Given the description of an element on the screen output the (x, y) to click on. 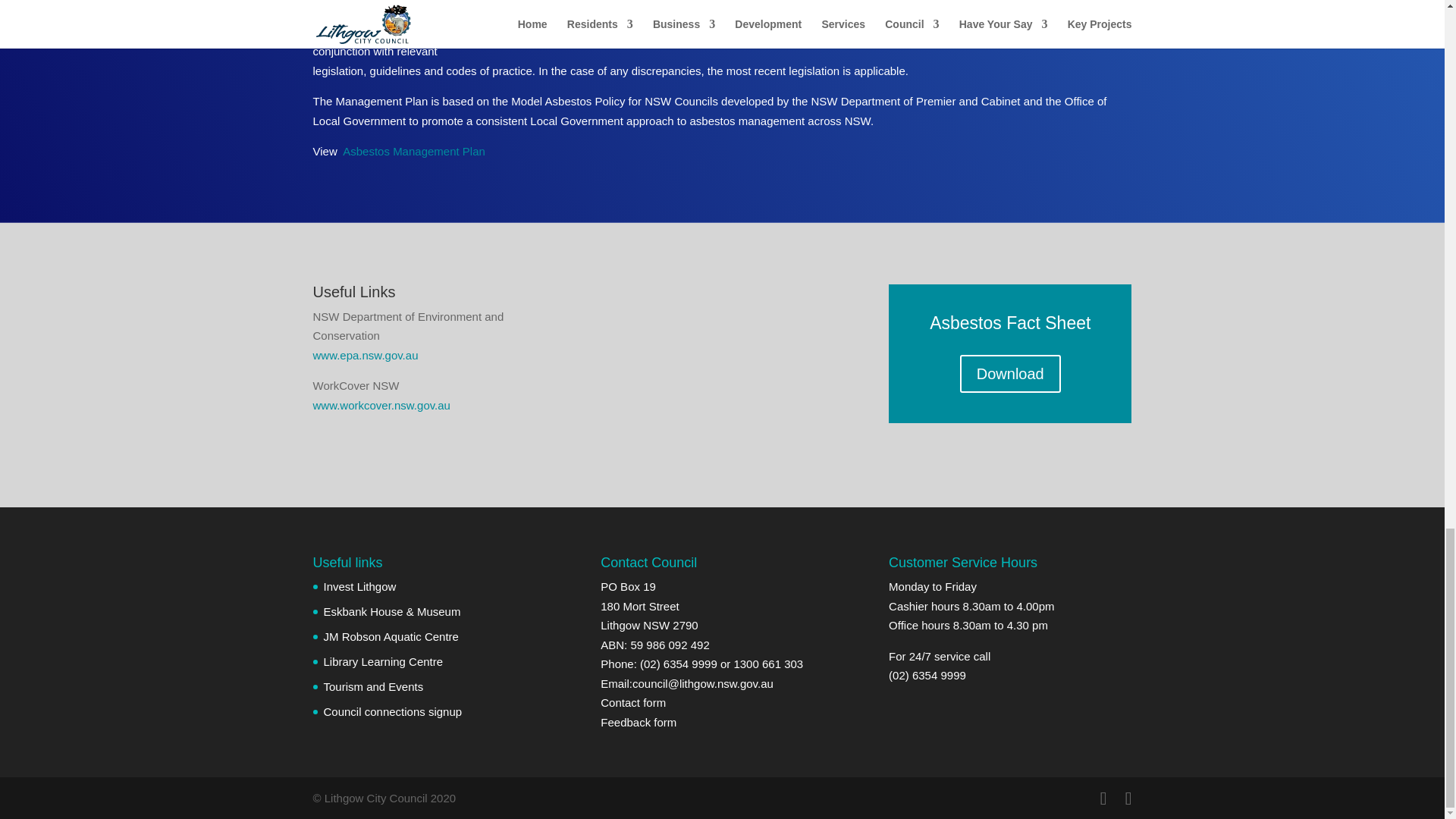
Asbestos Awareness Community Service Announcement (721, 352)
